Given the description of an element on the screen output the (x, y) to click on. 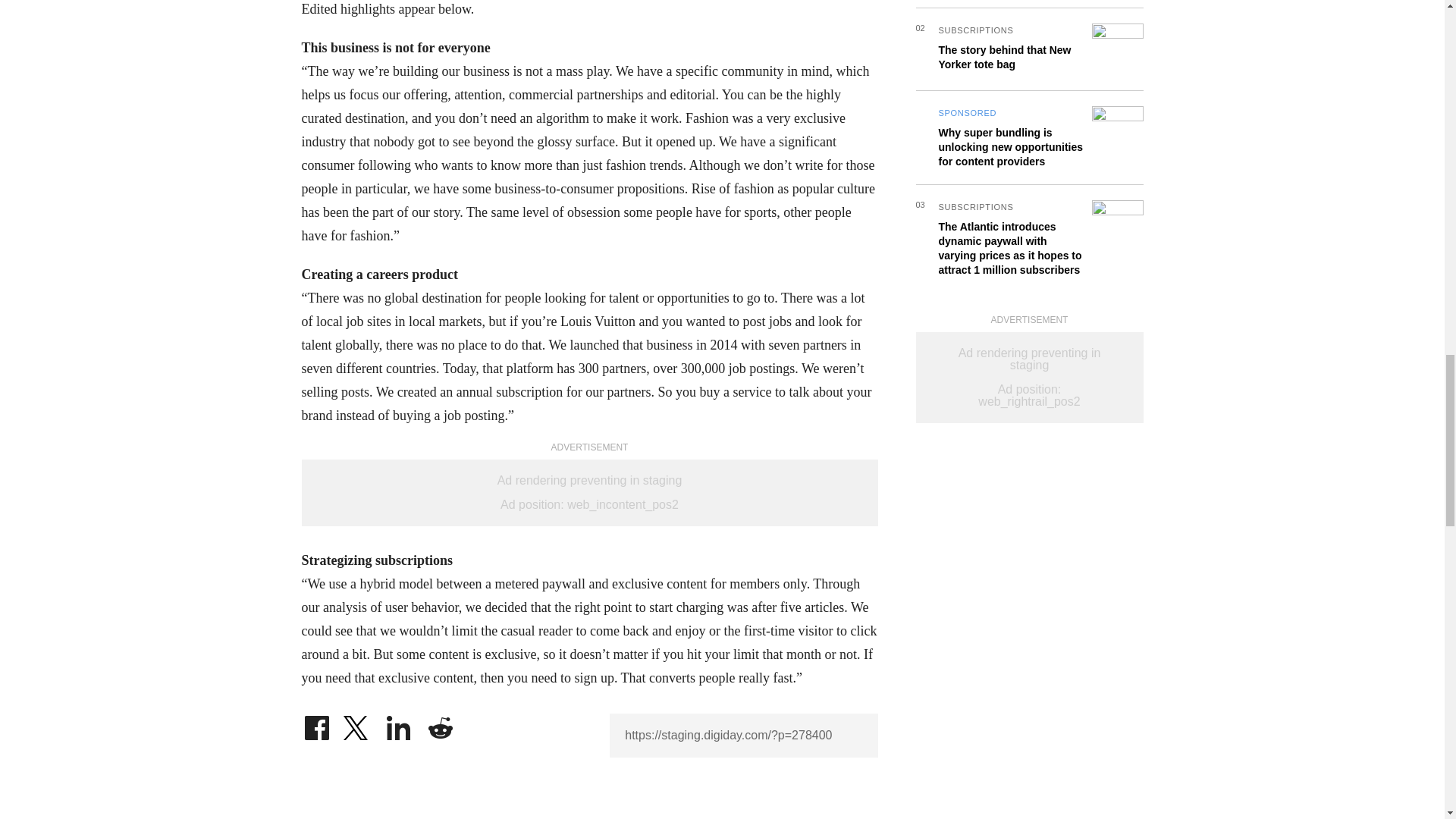
Share on Twitter (357, 724)
Share on LinkedIn (398, 724)
Share on Reddit (440, 724)
Share on Facebook (316, 724)
